Given the description of an element on the screen output the (x, y) to click on. 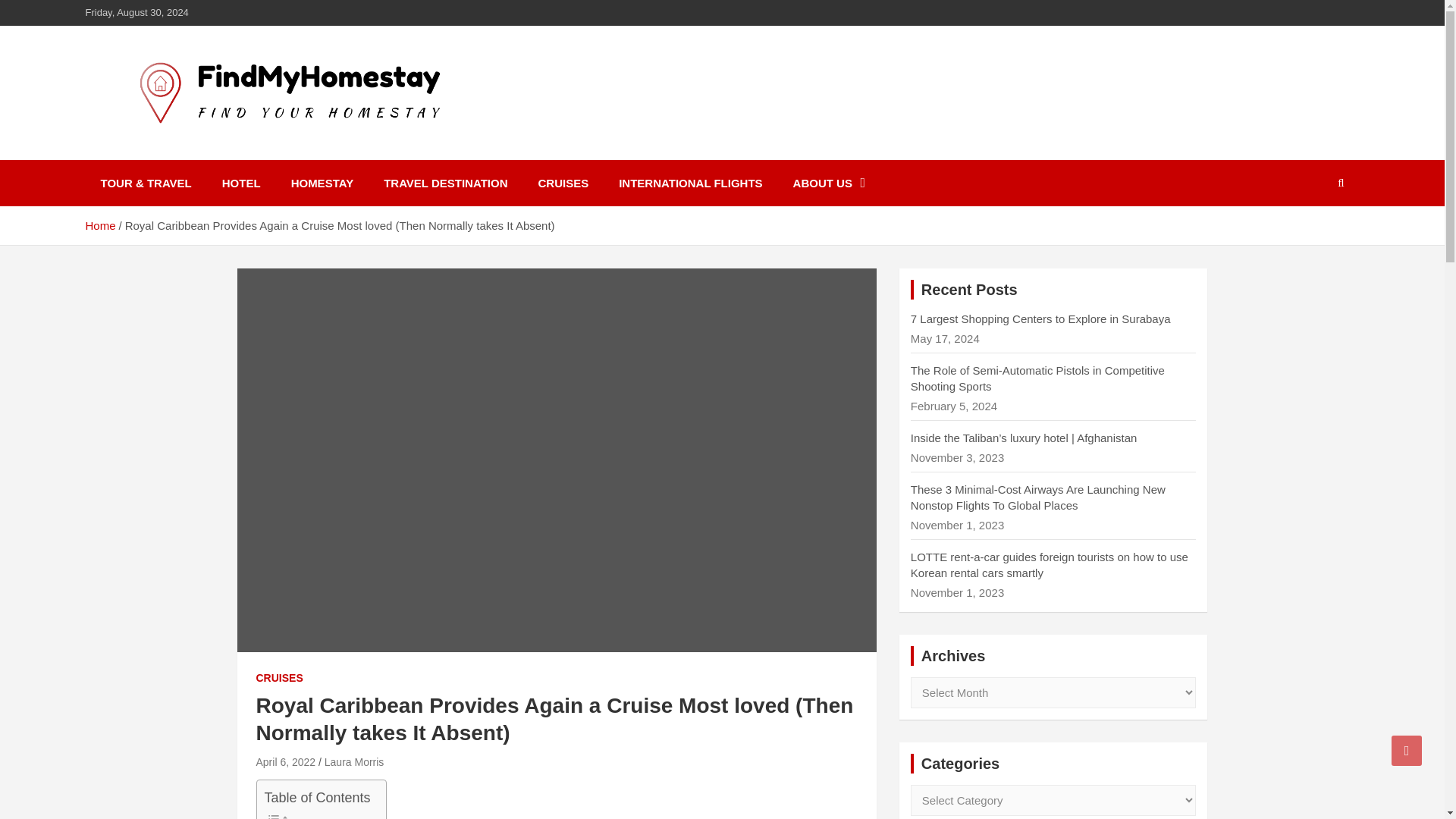
HOTEL (241, 182)
HOMESTAY (322, 182)
TRAVEL DESTINATION (445, 182)
Go to Top (1406, 750)
CRUISES (279, 678)
Laura Morris (354, 761)
7 Largest Shopping Centers to Explore in Surabaya (1040, 318)
Home (99, 225)
